Given the description of an element on the screen output the (x, y) to click on. 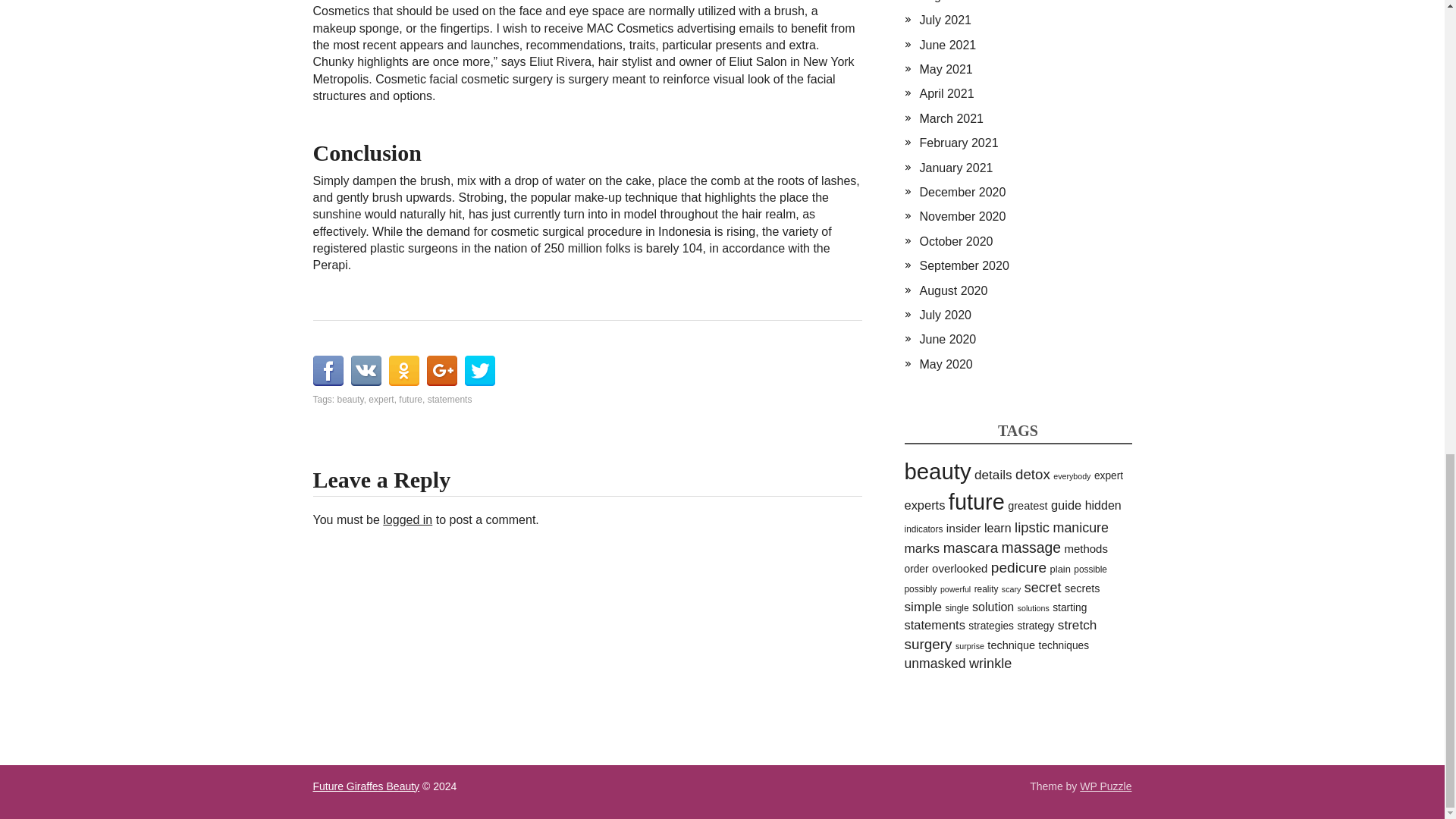
August 2021 (952, 1)
Share in Twitter (479, 370)
April 2021 (946, 92)
beauty (350, 398)
Share in VK (365, 370)
May 2021 (945, 69)
future (410, 398)
Share in Facebook (327, 370)
expert (380, 398)
Share in OK (403, 370)
July 2021 (944, 19)
statements (449, 398)
June 2021 (946, 44)
logged in (407, 519)
